Given the description of an element on the screen output the (x, y) to click on. 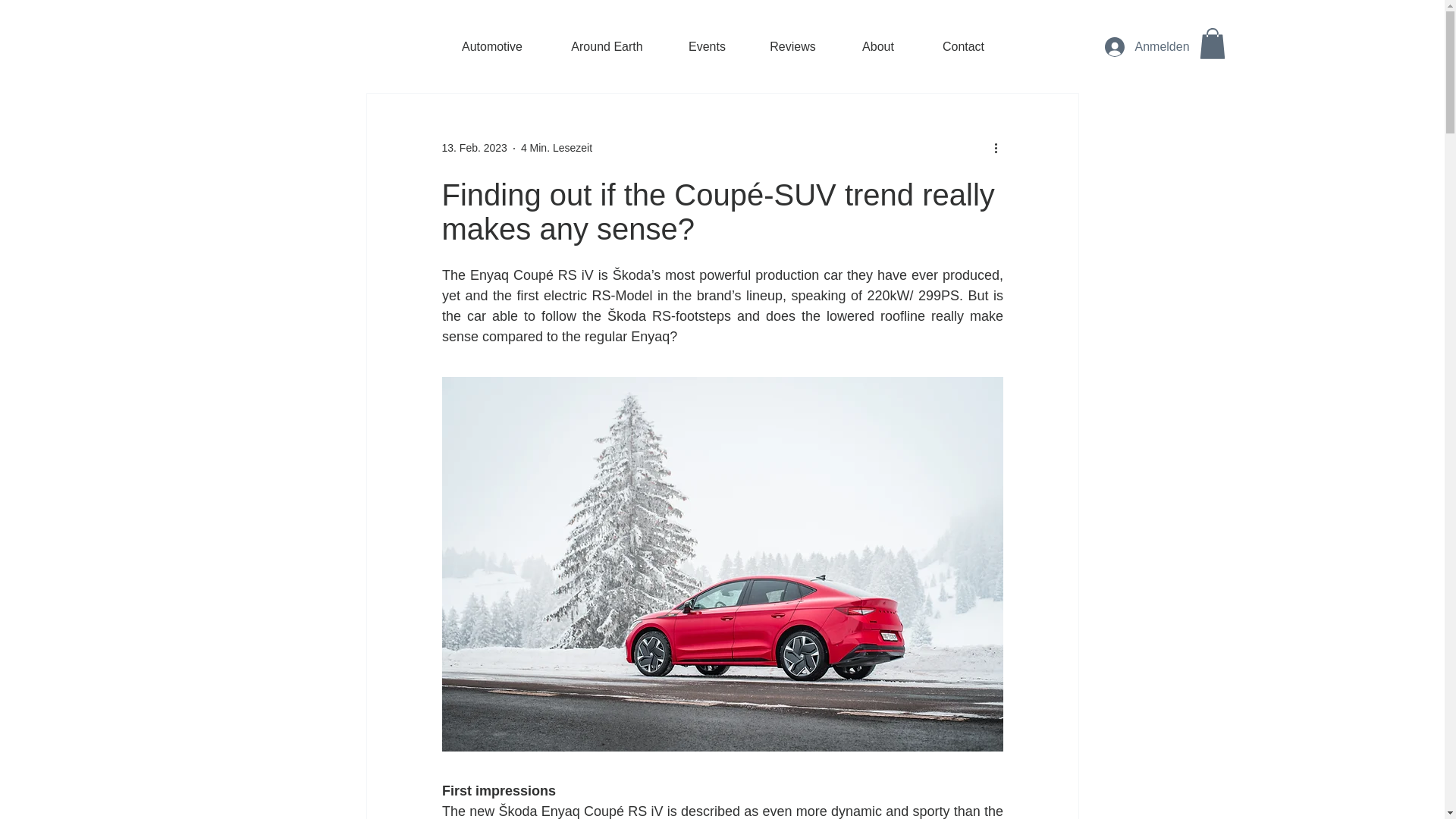
Reviews (792, 46)
4 Min. Lesezeit (556, 147)
Contact (963, 46)
Events (706, 46)
Around Earth (606, 46)
About (877, 46)
R.P.M. (395, 47)
Anmelden (1139, 46)
Automotive (492, 46)
13. Feb. 2023 (473, 147)
